Given the description of an element on the screen output the (x, y) to click on. 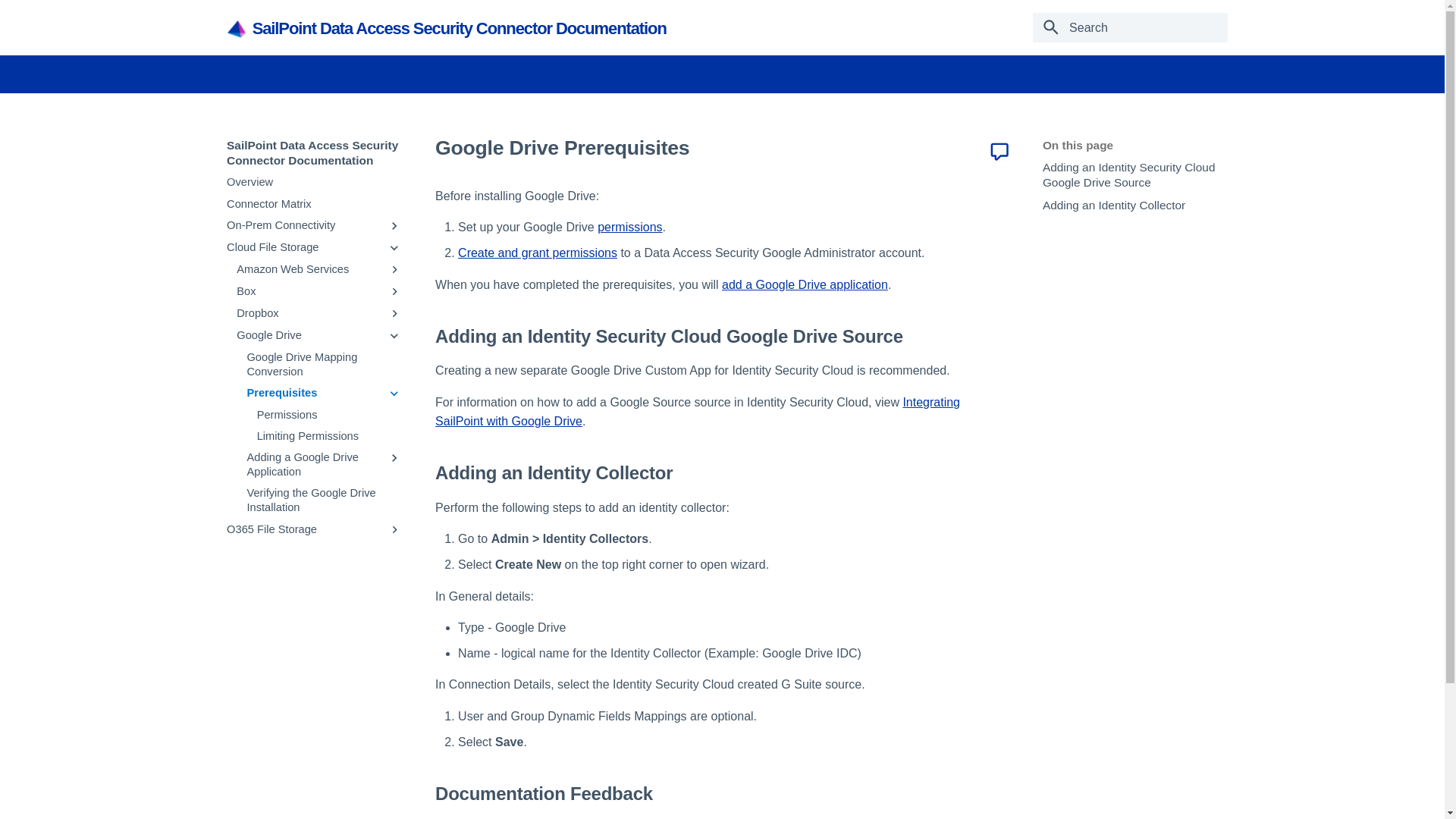
Cloud File Storage (303, 247)
On-Prem Connectivity (303, 225)
Overview (314, 182)
Connector Matrix (314, 204)
SailPoint Product Documentation (237, 28)
Dropbox (307, 313)
Amazon Web Services (307, 269)
Leave feedback (999, 151)
Box (307, 291)
